Given the description of an element on the screen output the (x, y) to click on. 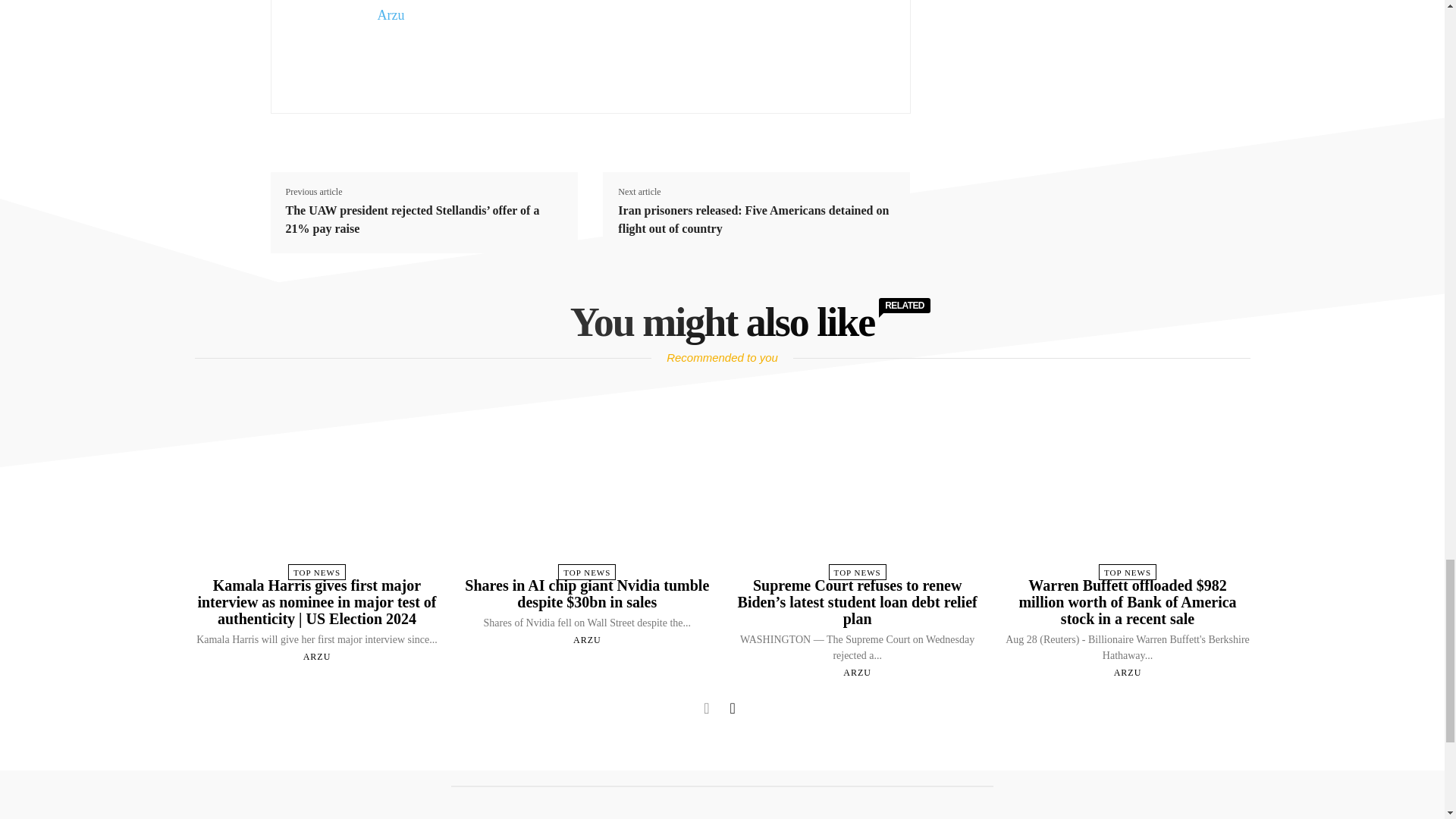
TOP NEWS (317, 571)
Arzu (390, 14)
